Given the description of an element on the screen output the (x, y) to click on. 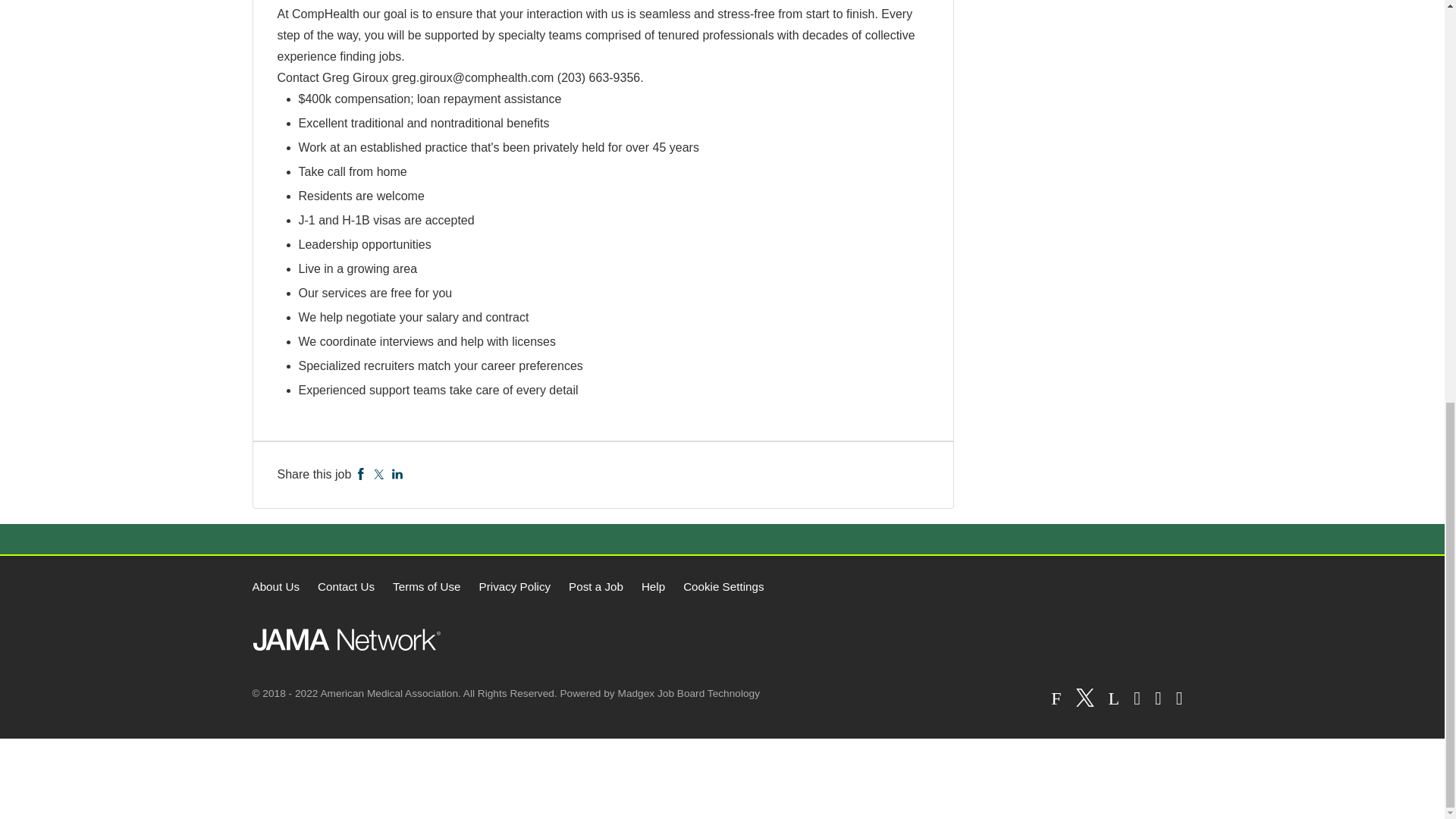
3rd party ad content (721, 778)
JAMA Network (346, 639)
